Given the description of an element on the screen output the (x, y) to click on. 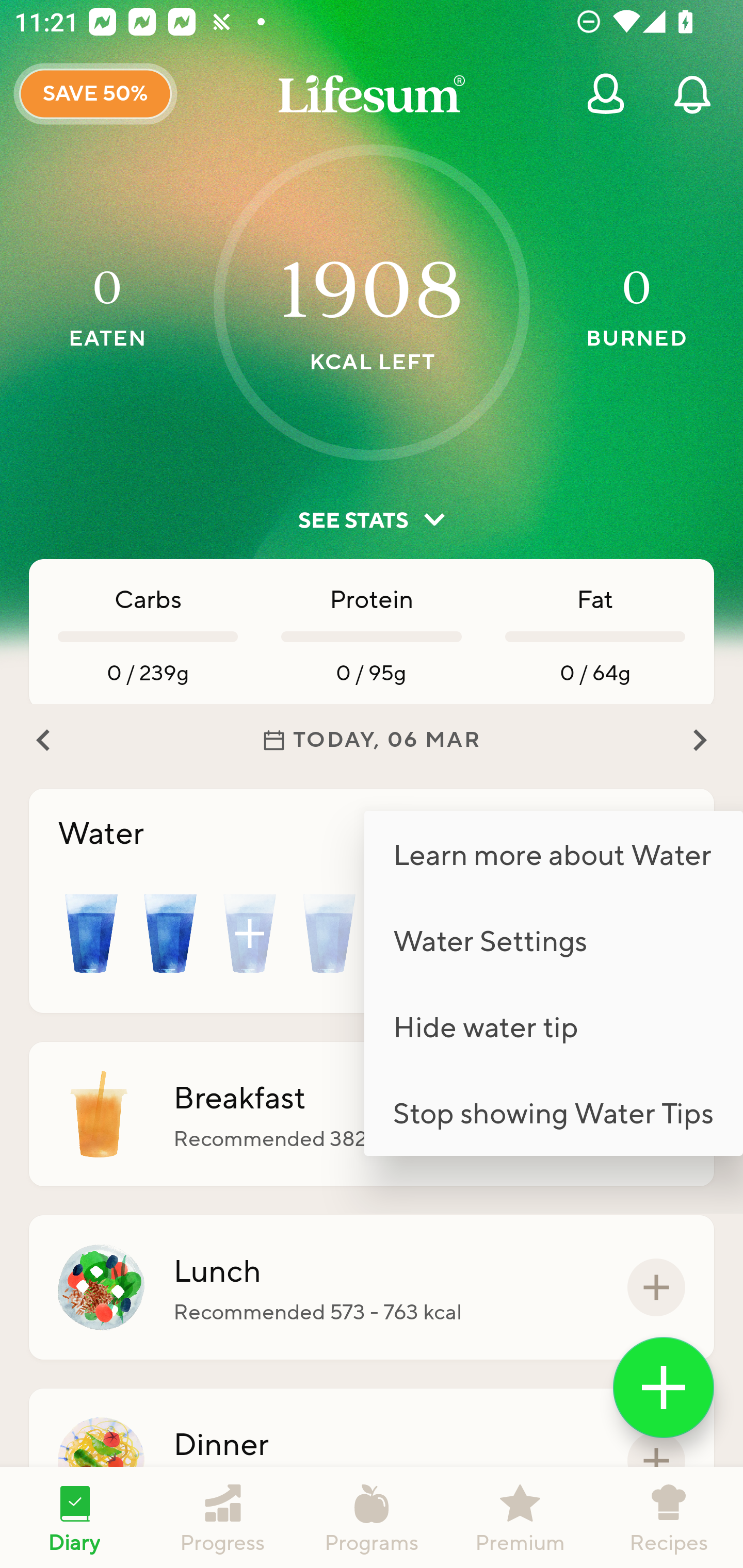
Learn more about Water (553, 853)
Water Settings (553, 939)
Hide water tip (553, 1026)
Stop showing Water Tips (553, 1112)
